Given the description of an element on the screen output the (x, y) to click on. 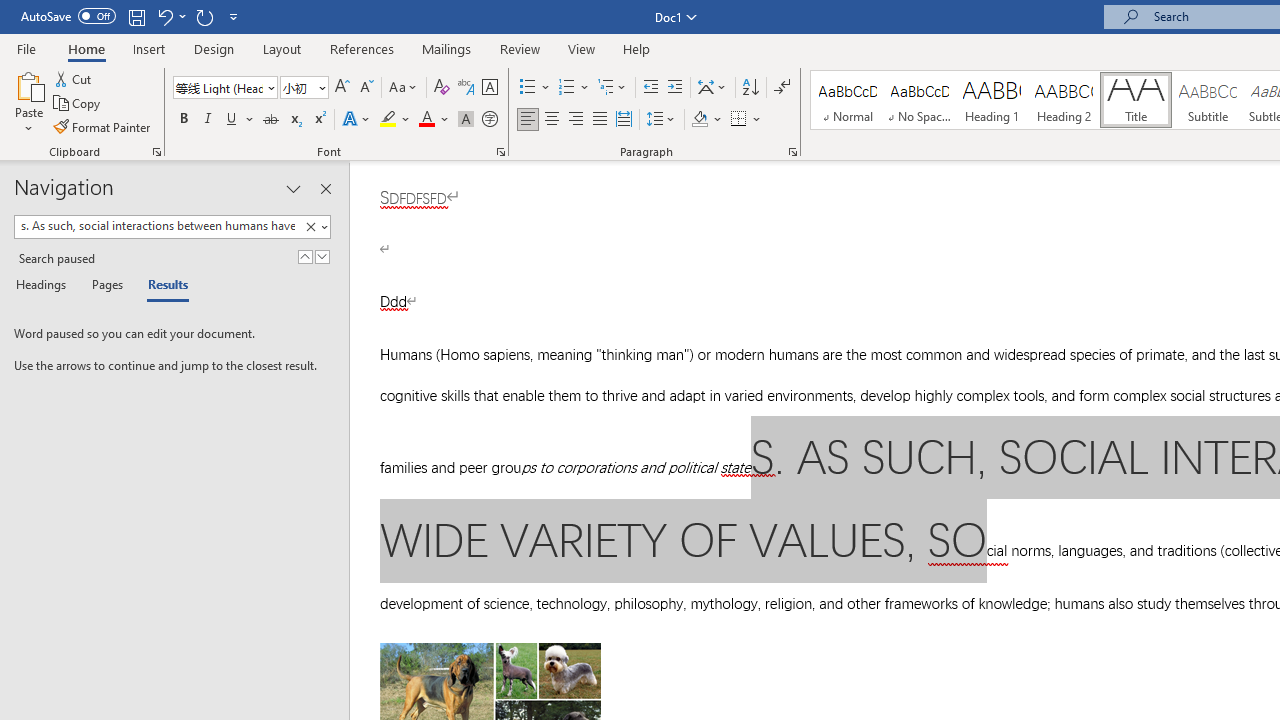
Next Result (322, 256)
Heading 1 (991, 100)
Subtitle (1208, 100)
